Given the description of an element on the screen output the (x, y) to click on. 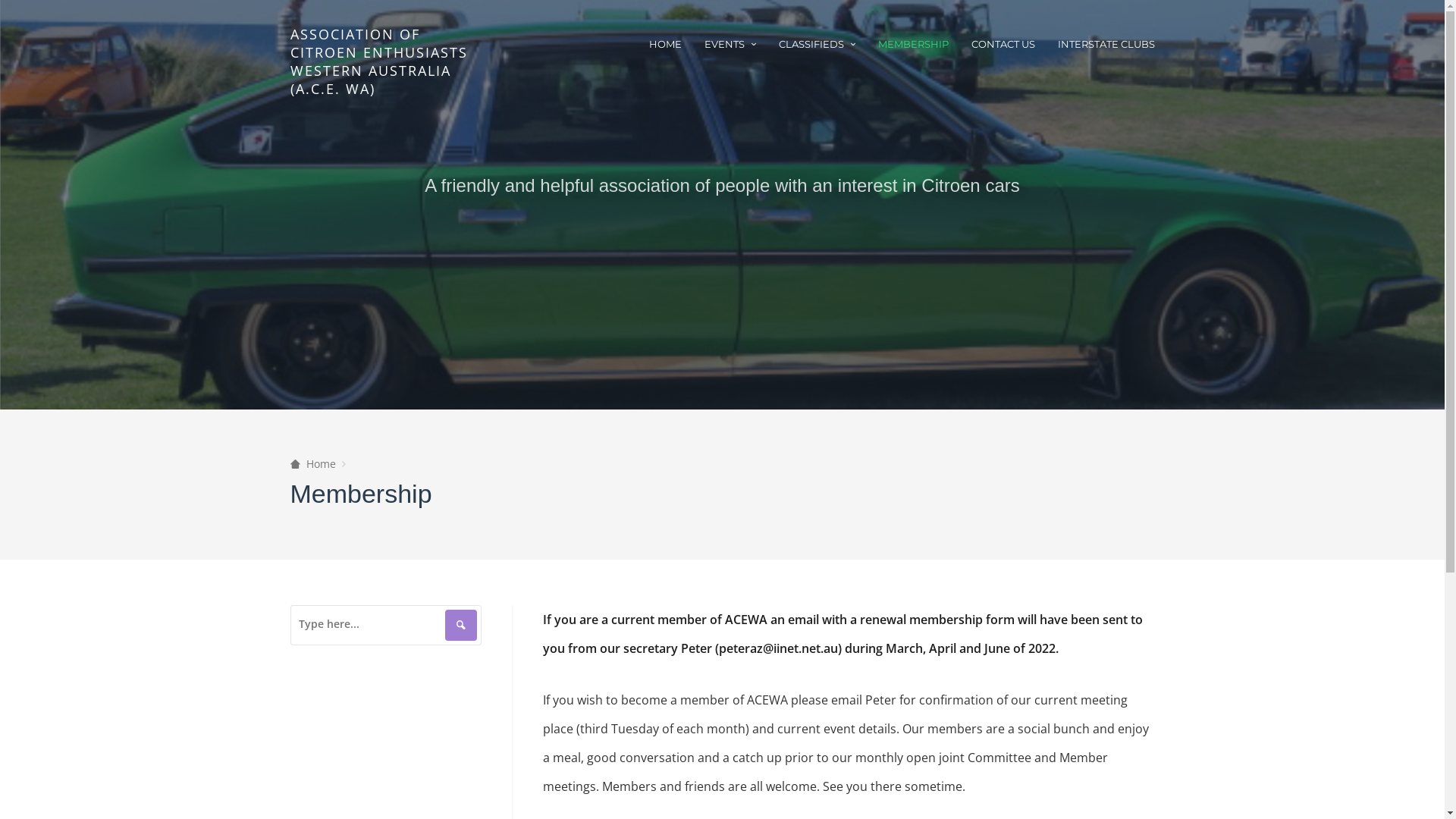
CONTACT US Element type: text (1002, 43)
INTERSTATE CLUBS Element type: text (1105, 43)
MEMBERSHIP Element type: text (913, 43)
CLASSIFIEDS Element type: text (816, 43)
Home Element type: text (312, 463)
EVENTS Element type: text (729, 43)
HOME Element type: text (665, 43)
